Given the description of an element on the screen output the (x, y) to click on. 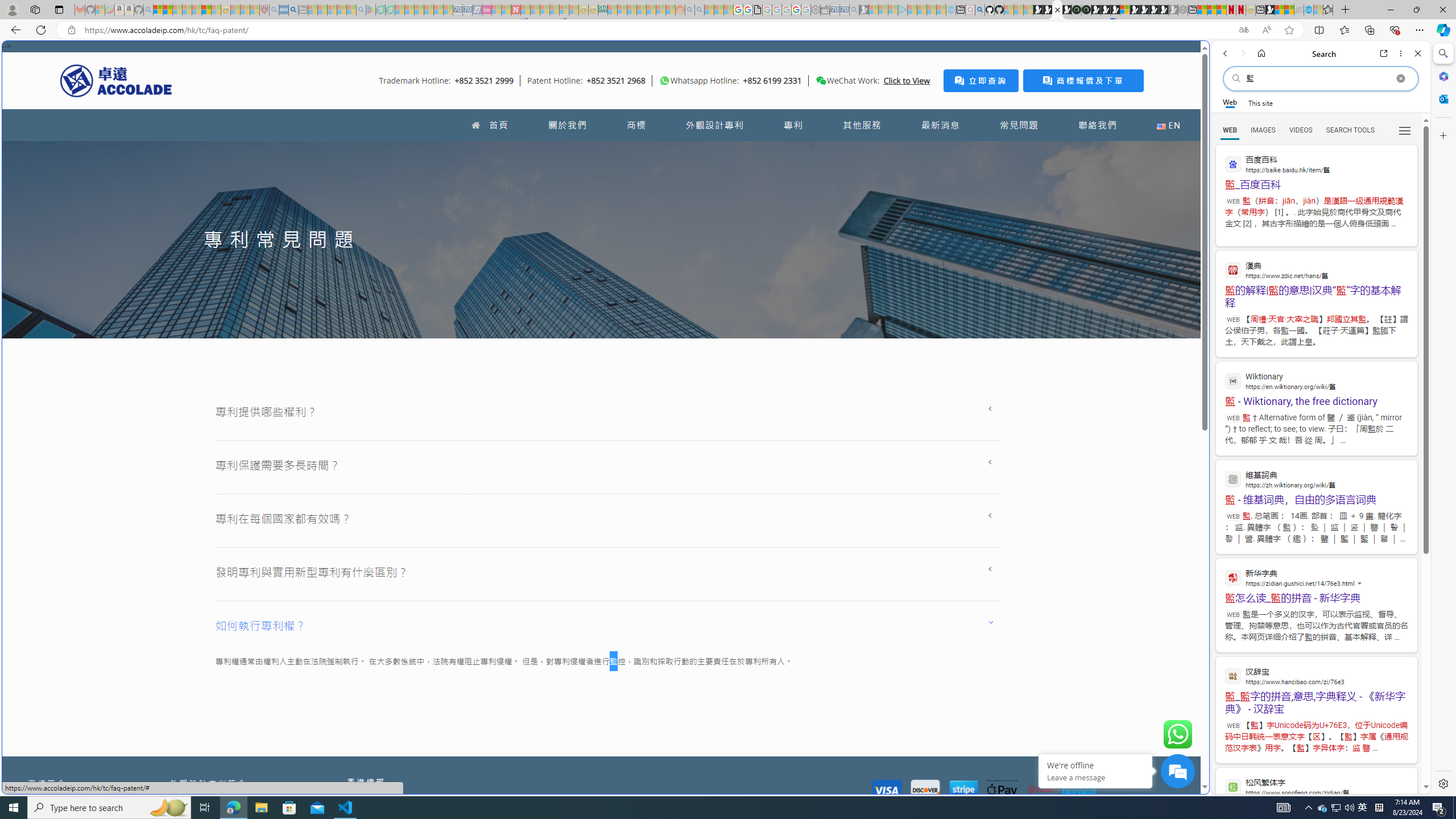
Wiktionary (1315, 380)
